Given the description of an element on the screen output the (x, y) to click on. 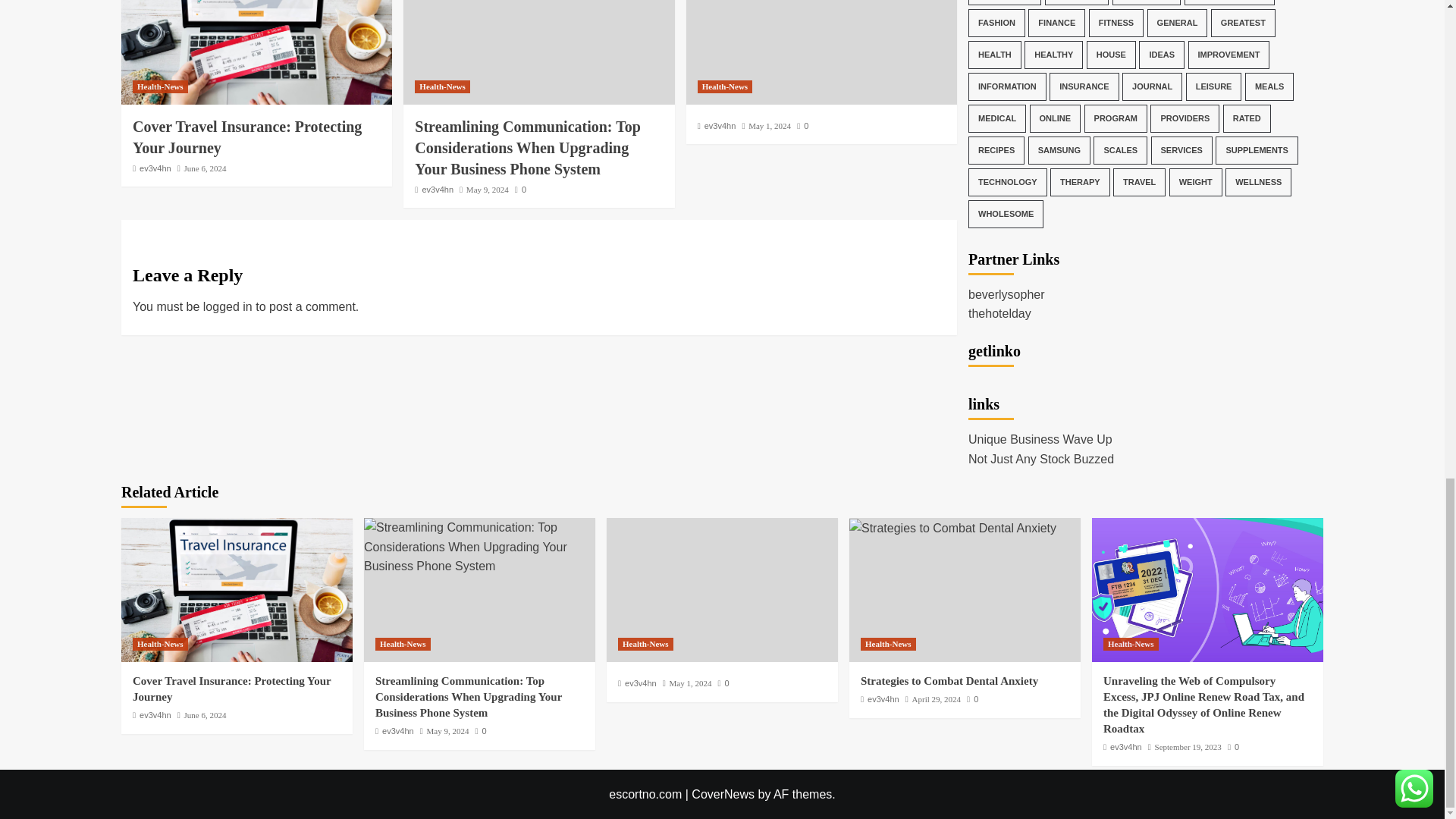
ev3v4hn (155, 167)
Cover Travel Insurance: Protecting Your Journey (255, 52)
May 9, 2024 (486, 189)
ev3v4hn (437, 189)
Cover Travel Insurance: Protecting Your Journey (236, 589)
Health-News (442, 86)
Health-News (159, 86)
Cover Travel Insurance: Protecting Your Journey (246, 136)
June 6, 2024 (205, 167)
